Given the description of an element on the screen output the (x, y) to click on. 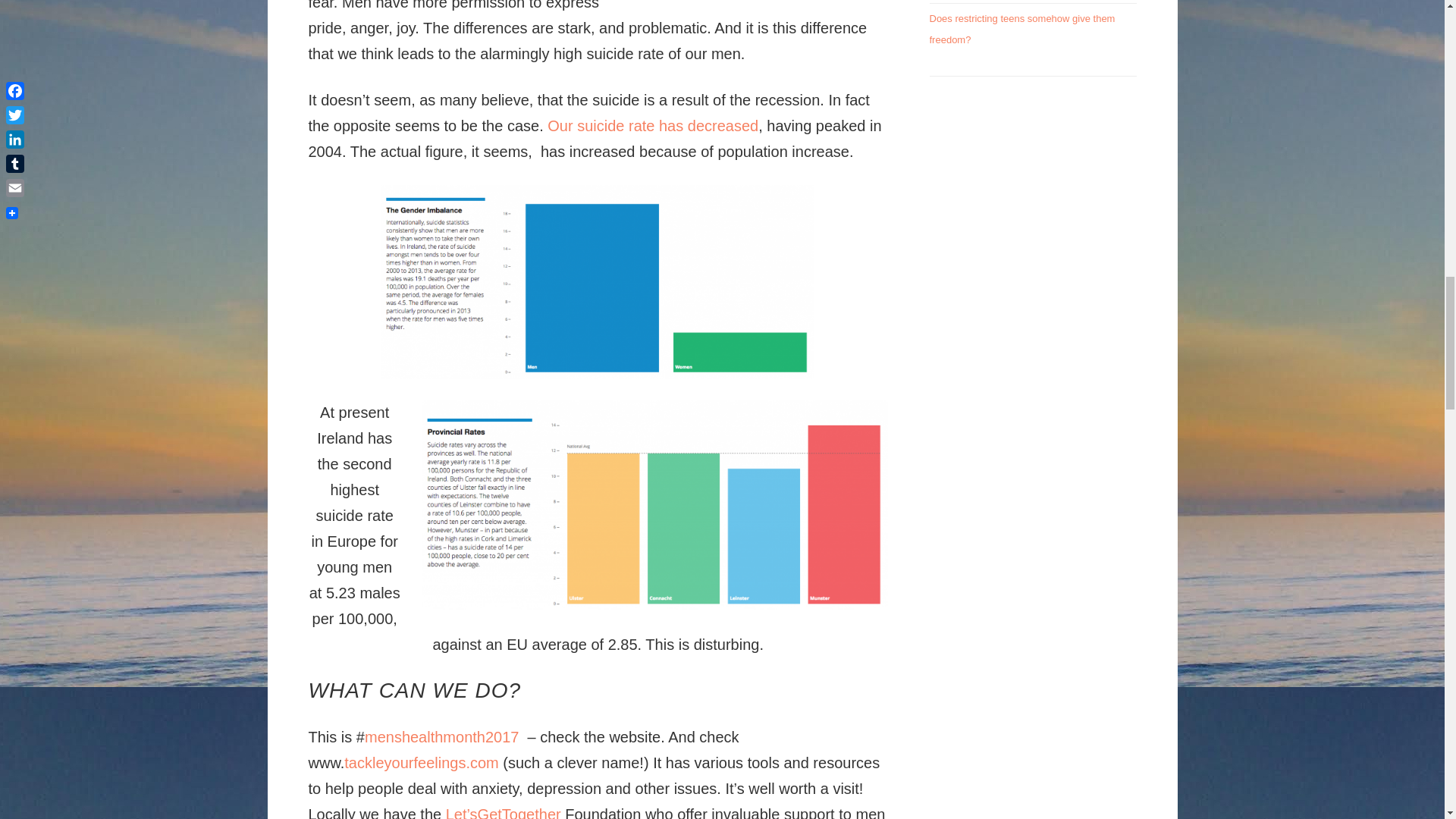
Our suicide rate has decreased (652, 125)
tackleyourfeelings.com (422, 762)
menshealthmonth2017 (441, 736)
